Given the description of an element on the screen output the (x, y) to click on. 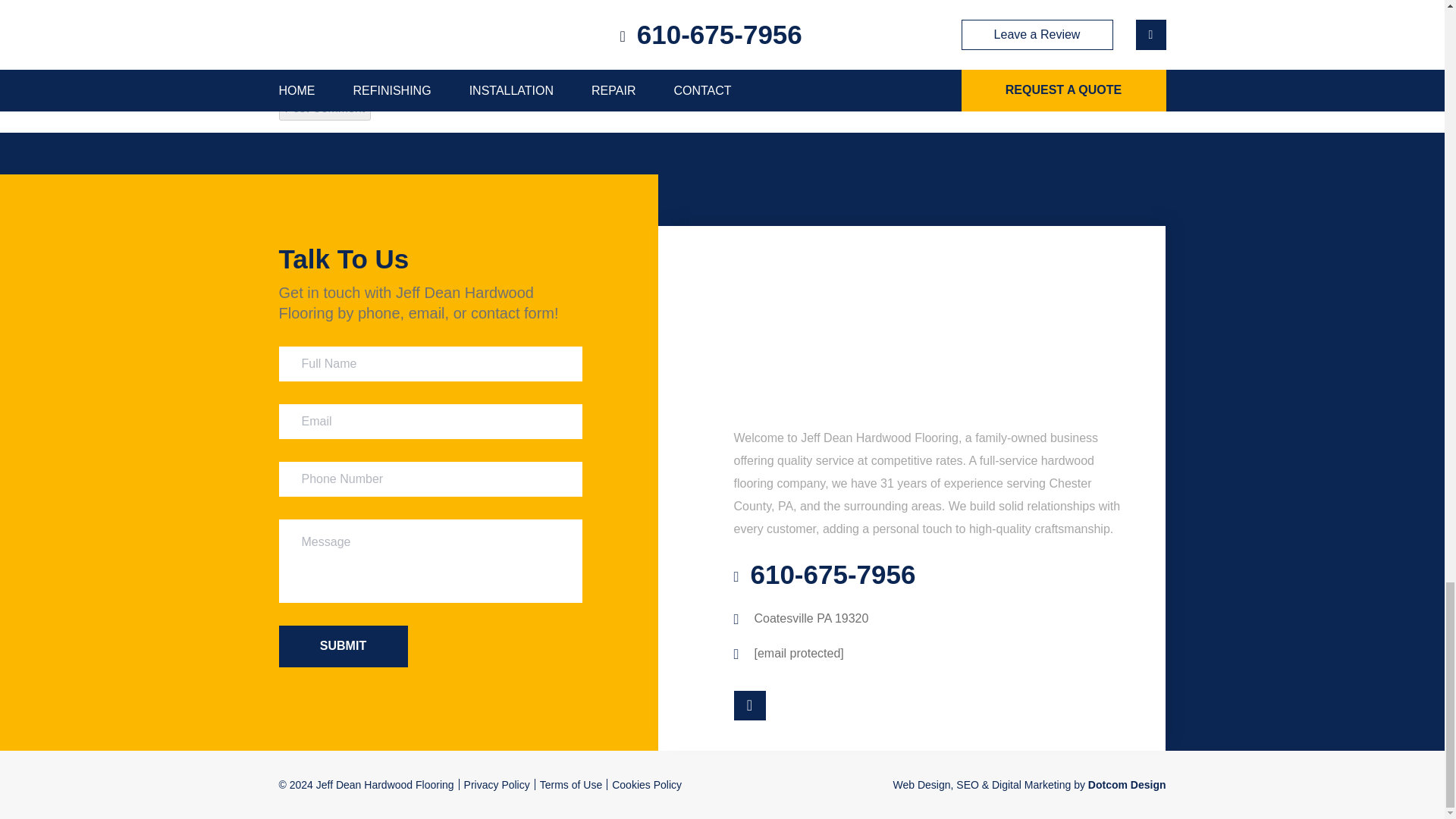
submit (343, 646)
submit (343, 646)
Coatesville PA 19320 (801, 618)
Post Comment (325, 108)
610-675-7956 (824, 573)
Privacy Policy (496, 784)
Post Comment (325, 108)
yes (283, 65)
